Given the description of an element on the screen output the (x, y) to click on. 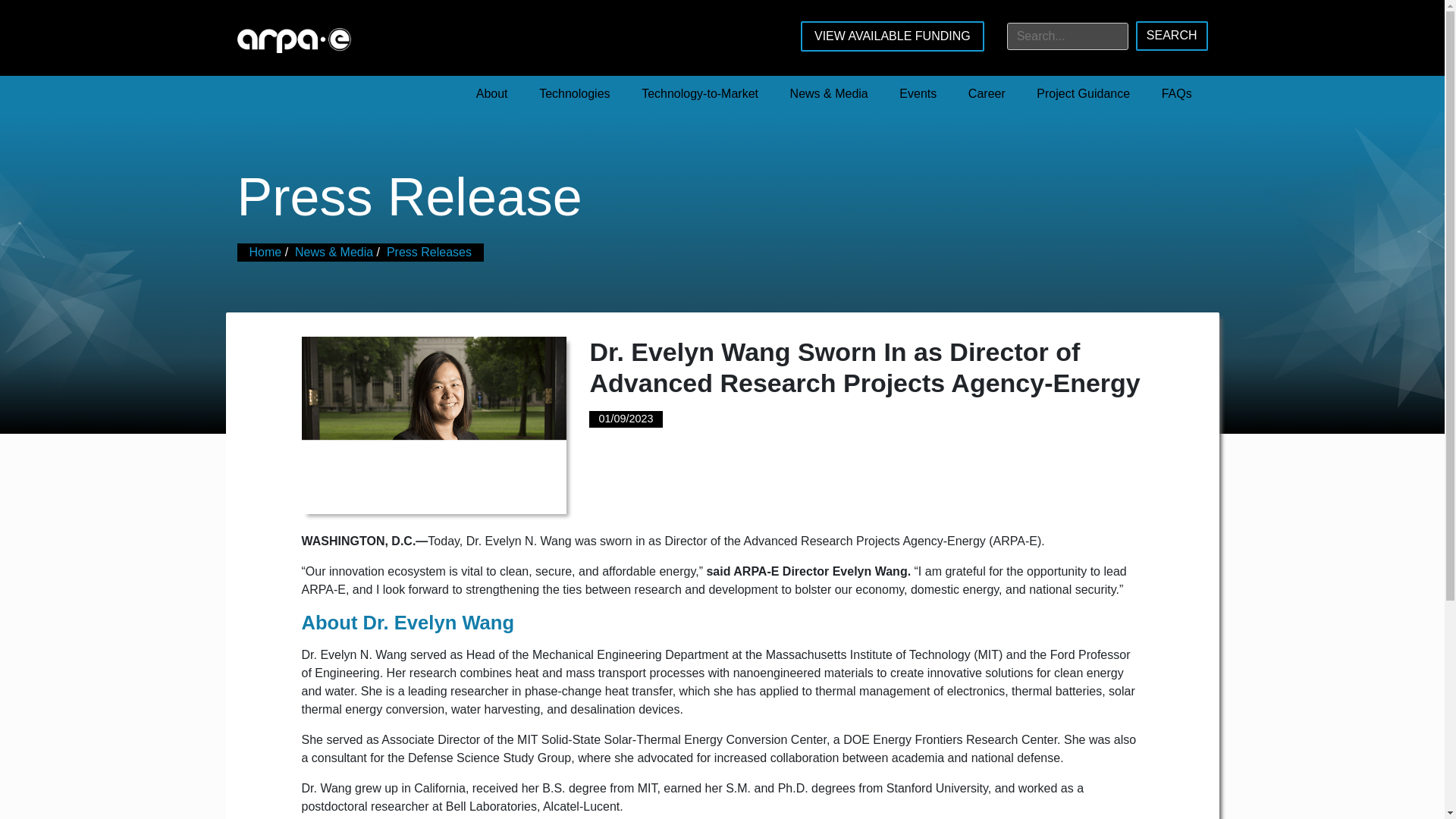
Events (918, 94)
VIEW AVAILABLE FUNDING (892, 36)
Technologies (574, 94)
Search (1171, 35)
Technology-to-Market (699, 94)
About (491, 94)
Search (1171, 35)
